Given the description of an element on the screen output the (x, y) to click on. 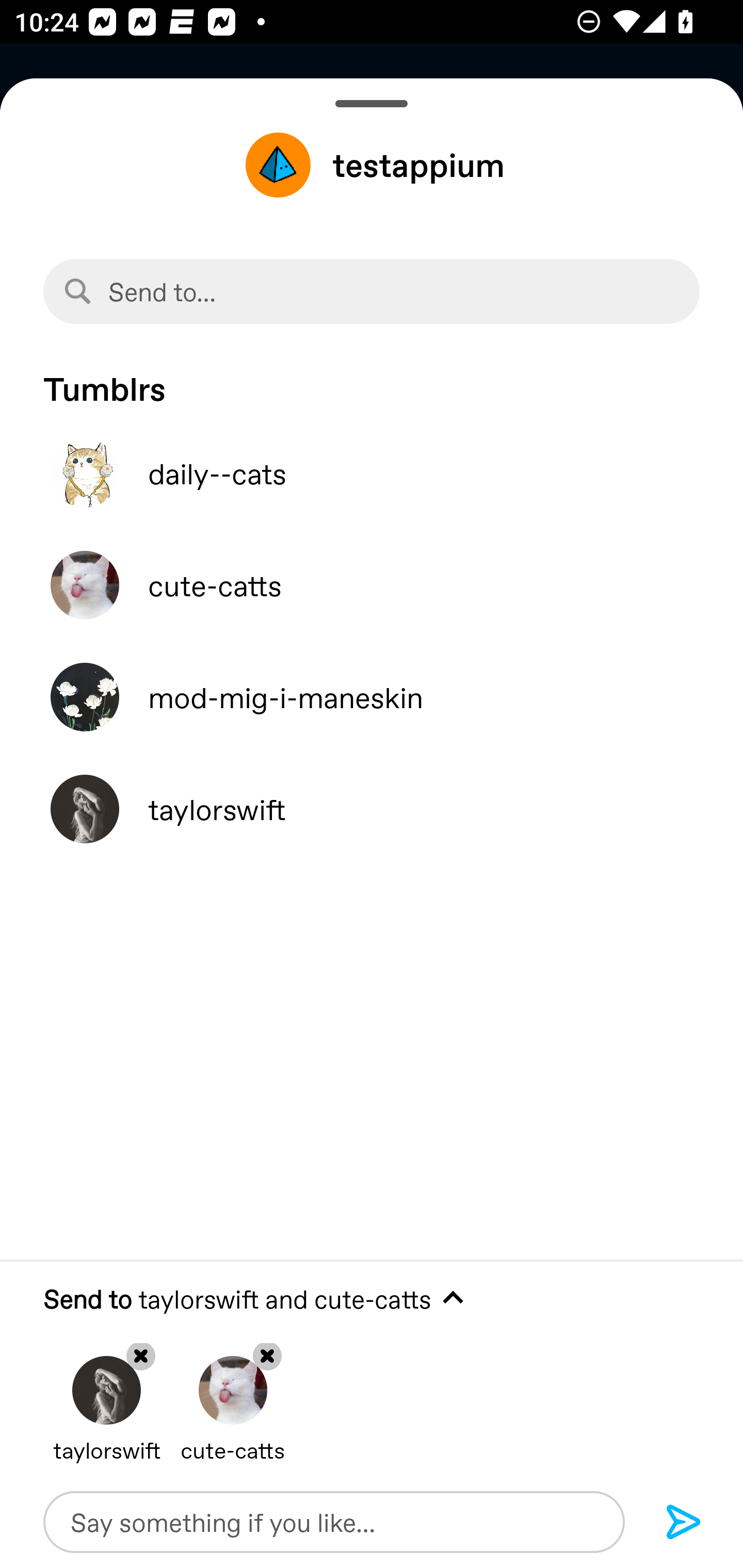
testappium (371, 164)
Send to… (371, 291)
Tumblrs (371, 379)
daily--cats (371, 473)
cute-catts (371, 585)
mod-mig-i-maneskin (371, 696)
taylorswift (371, 808)
Send to taylorswift and cute-catts (371, 1298)
Dismiss taylorswift (106, 1395)
Dismiss cute-catts (232, 1395)
Send (683, 1522)
Say something if you like… (333, 1521)
